Given the description of an element on the screen output the (x, y) to click on. 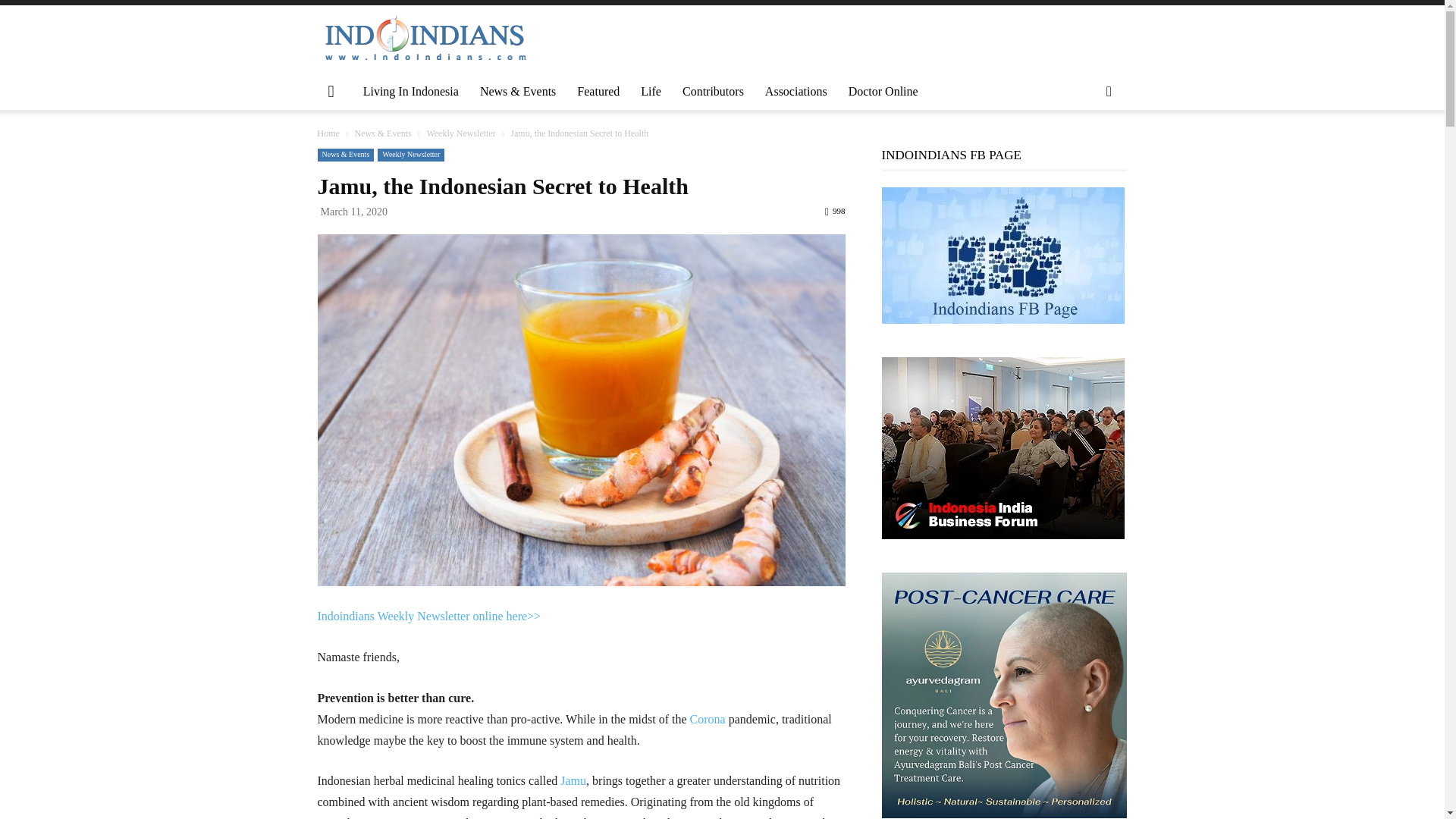
LOGO INDOINDIANS (424, 39)
View all posts in Weekly Newsletter (460, 132)
